Given the description of an element on the screen output the (x, y) to click on. 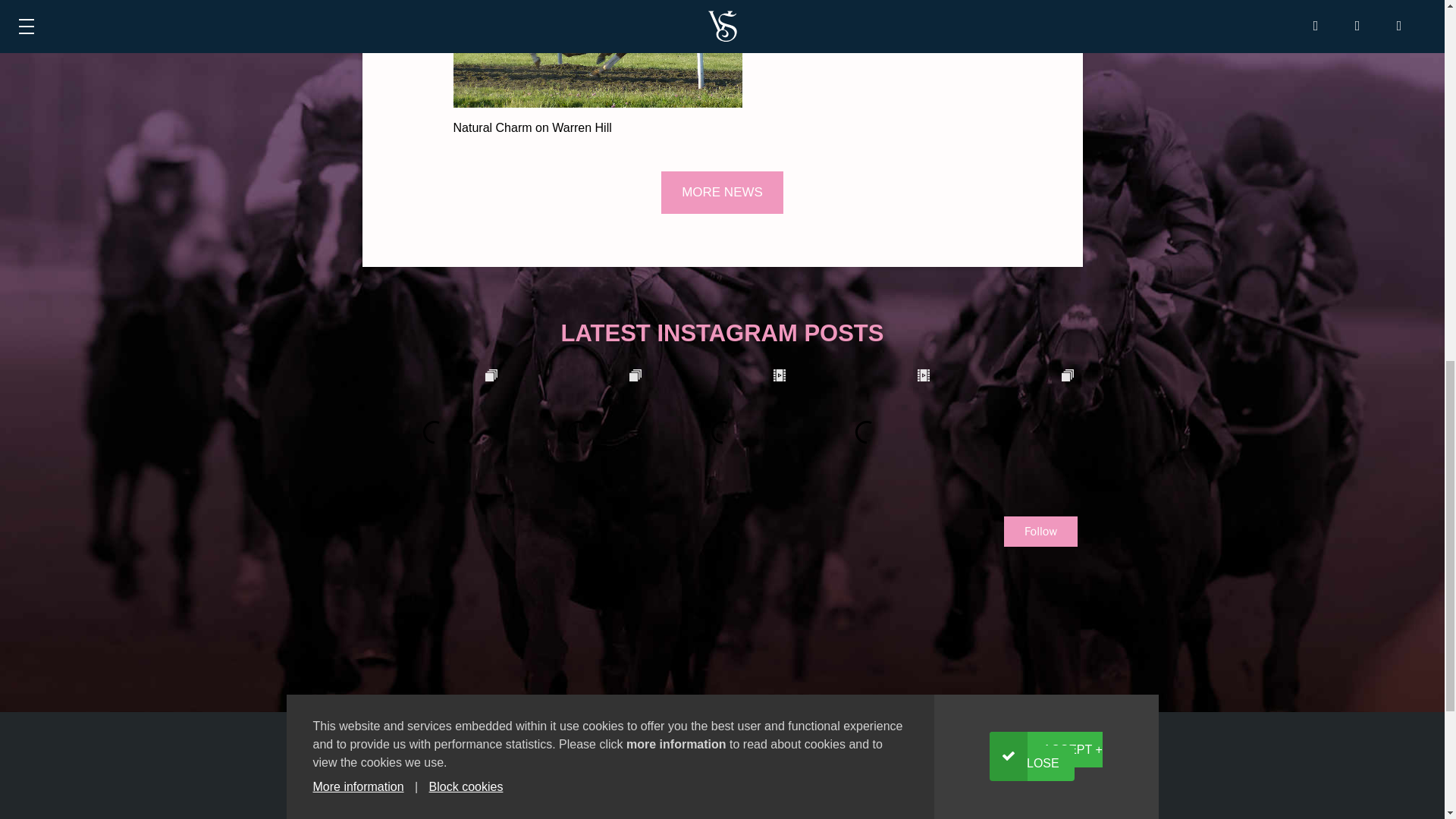
Carlburg Stables (797, 815)
About Roger (786, 791)
MORE NEWS (722, 192)
